Given the description of an element on the screen output the (x, y) to click on. 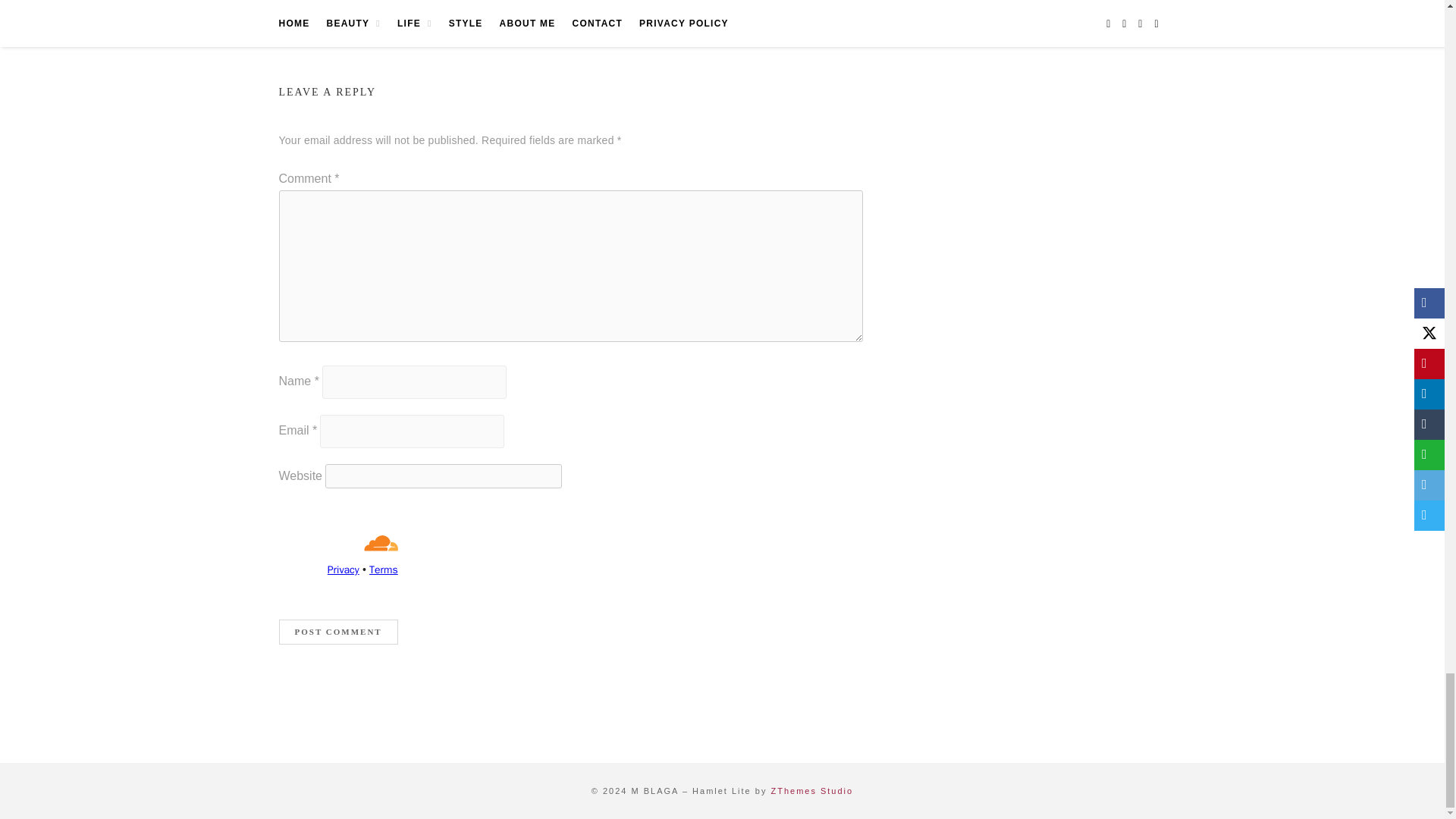
CHRISTMAS INSPIRATION: DECORATING THE TREE (716, 12)
Post Comment (338, 631)
Post Comment (338, 631)
